Given the description of an element on the screen output the (x, y) to click on. 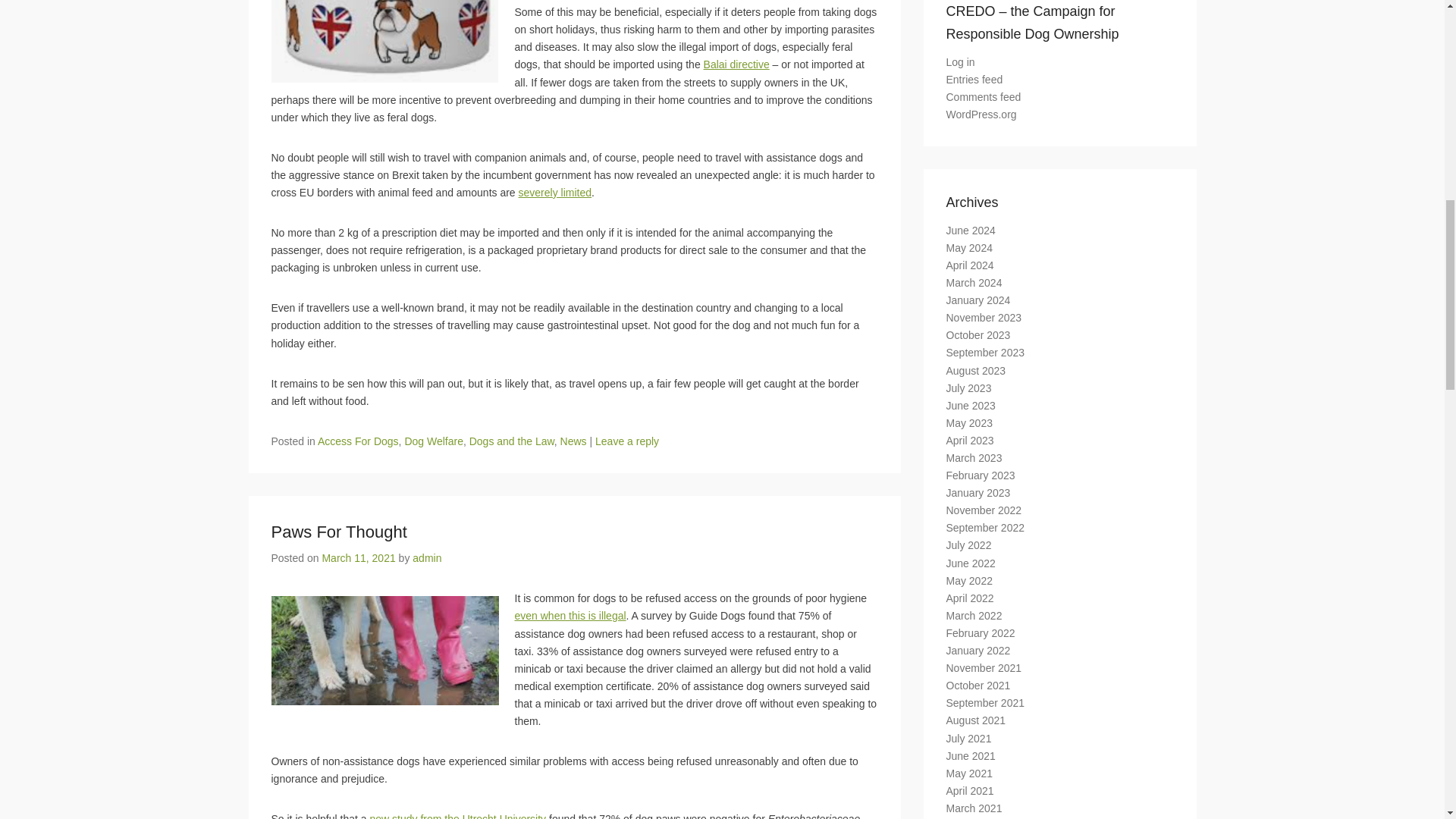
Permalink to Paws For Thought (338, 531)
View all posts by admin (426, 558)
19:34 (357, 558)
